Given the description of an element on the screen output the (x, y) to click on. 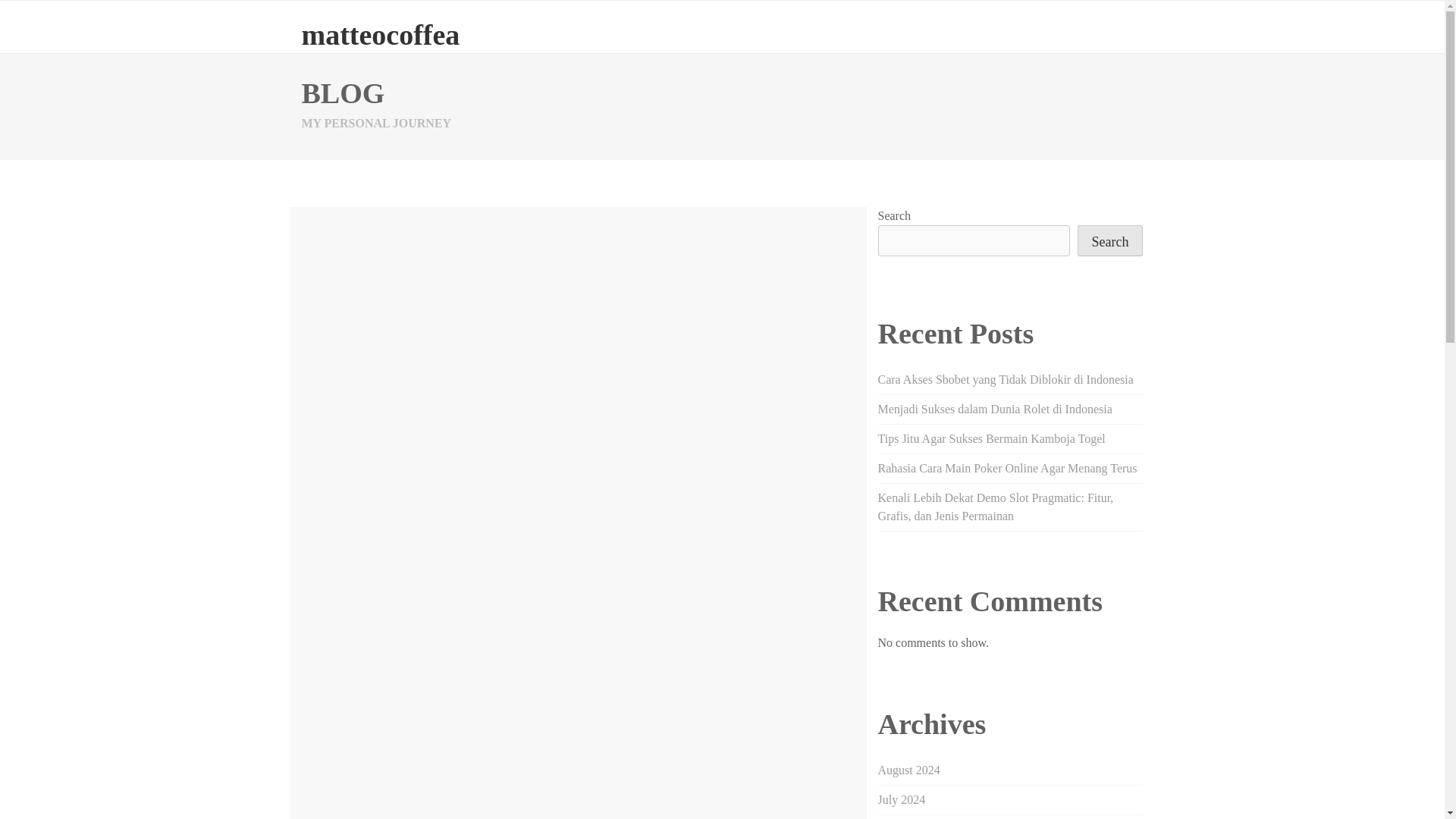
How to Play Live Lottery Online (502, 273)
Menjadi Sukses dalam Dunia Rolet di Indonesia (994, 408)
Cara Akses Sbobet yang Tidak Diblokir di Indonesia (1005, 379)
Search (1109, 240)
August 2024 (908, 769)
Rahasia Cara Main Poker Online Agar Menang Terus (1007, 468)
Tips Jitu Agar Sukses Bermain Kamboja Togel (991, 438)
July 2024 (901, 799)
